Given the description of an element on the screen output the (x, y) to click on. 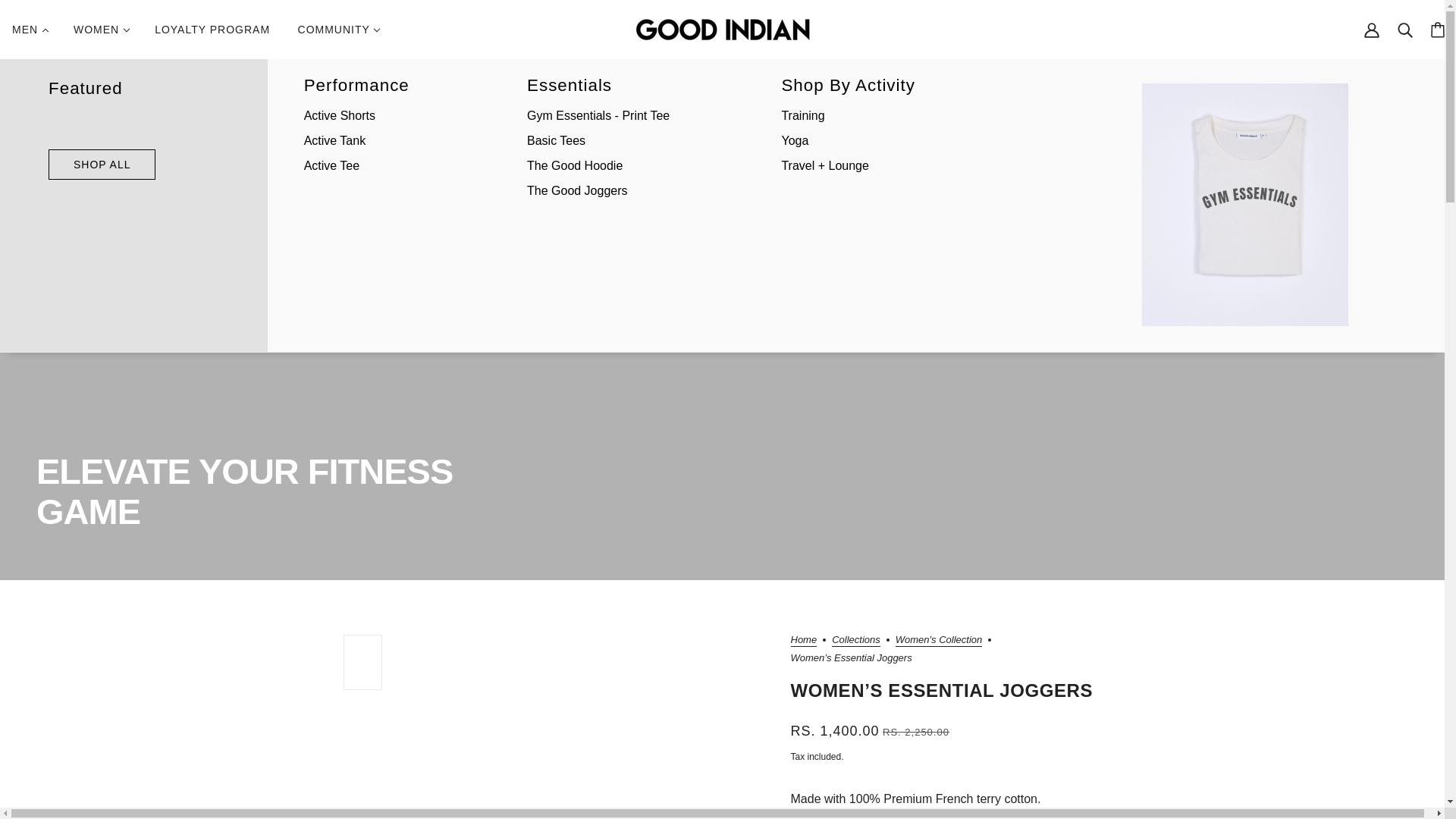
Good Indian (721, 29)
